Given the description of an element on the screen output the (x, y) to click on. 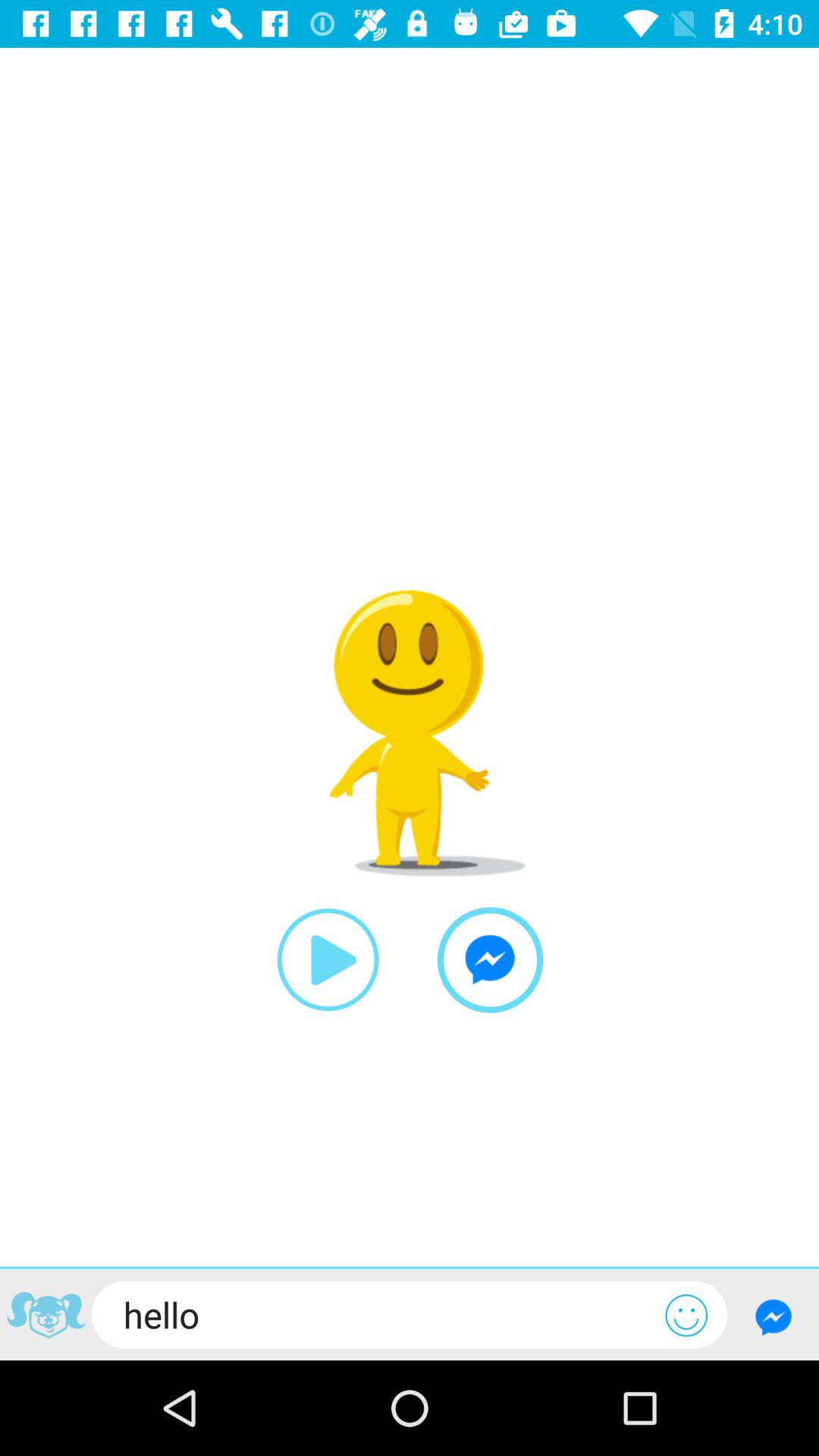
launch item at the bottom left corner (45, 1317)
